Given the description of an element on the screen output the (x, y) to click on. 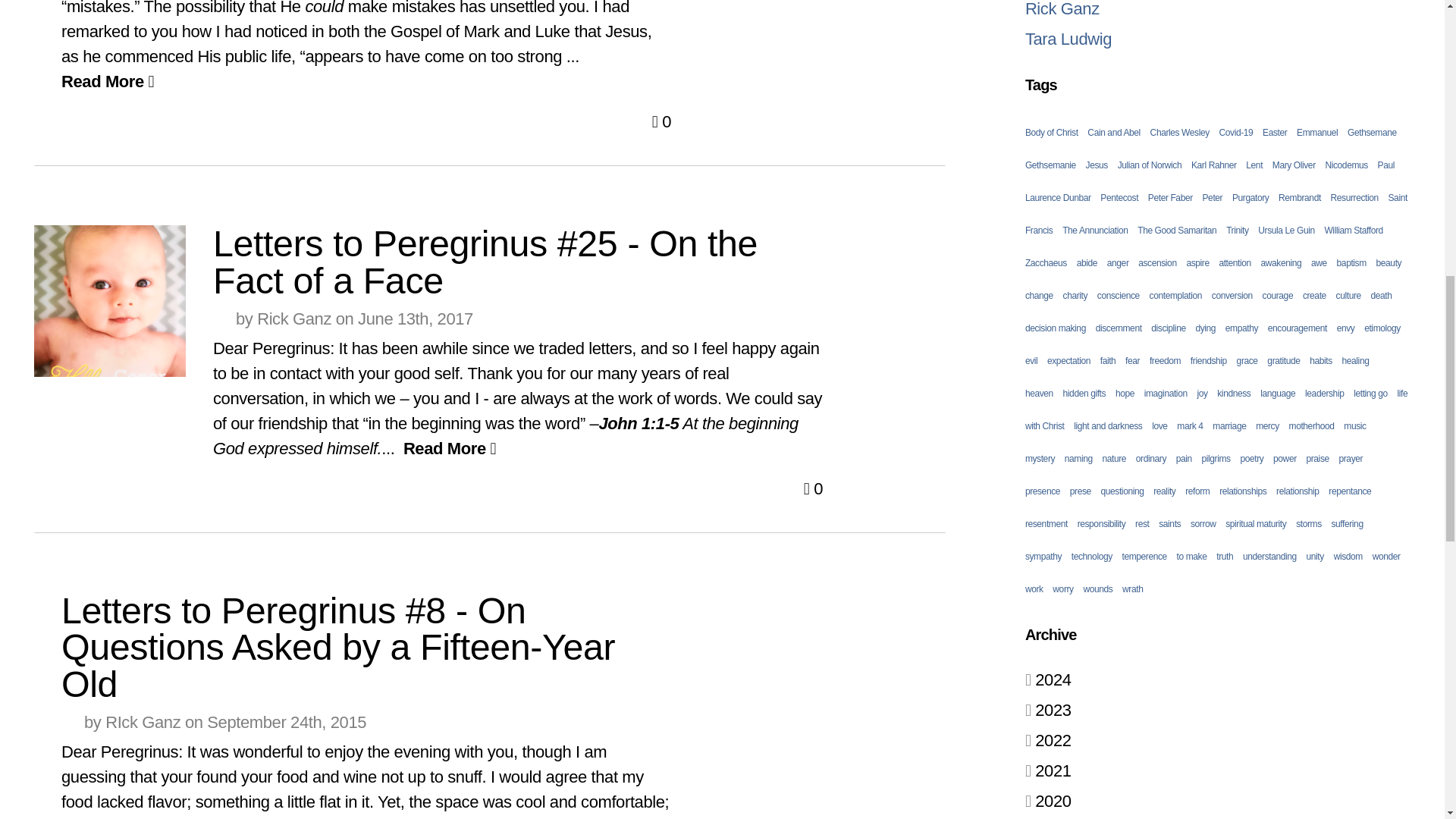
Rick Ganz (1062, 9)
Tara Ludwig (1068, 38)
Cain and Abel (1113, 132)
Body of Christ (1051, 132)
